Given the description of an element on the screen output the (x, y) to click on. 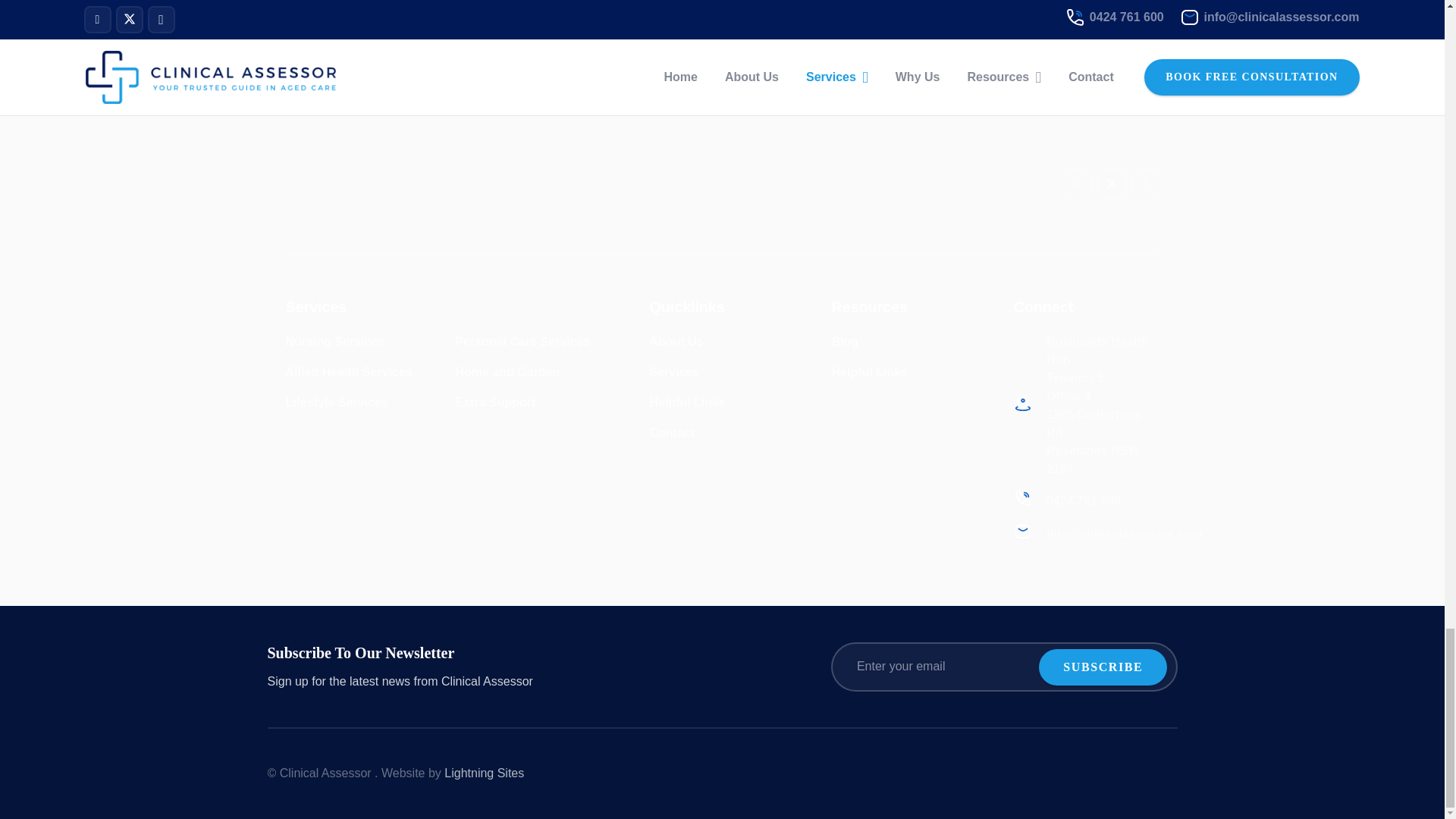
CONTACT US (852, 10)
Nursing Services (334, 341)
Facebook (1077, 184)
LinkedIn (1145, 184)
BOOK FREE CONSULTATION (633, 10)
Twitter (1110, 183)
Subscribe (1103, 667)
